Given the description of an element on the screen output the (x, y) to click on. 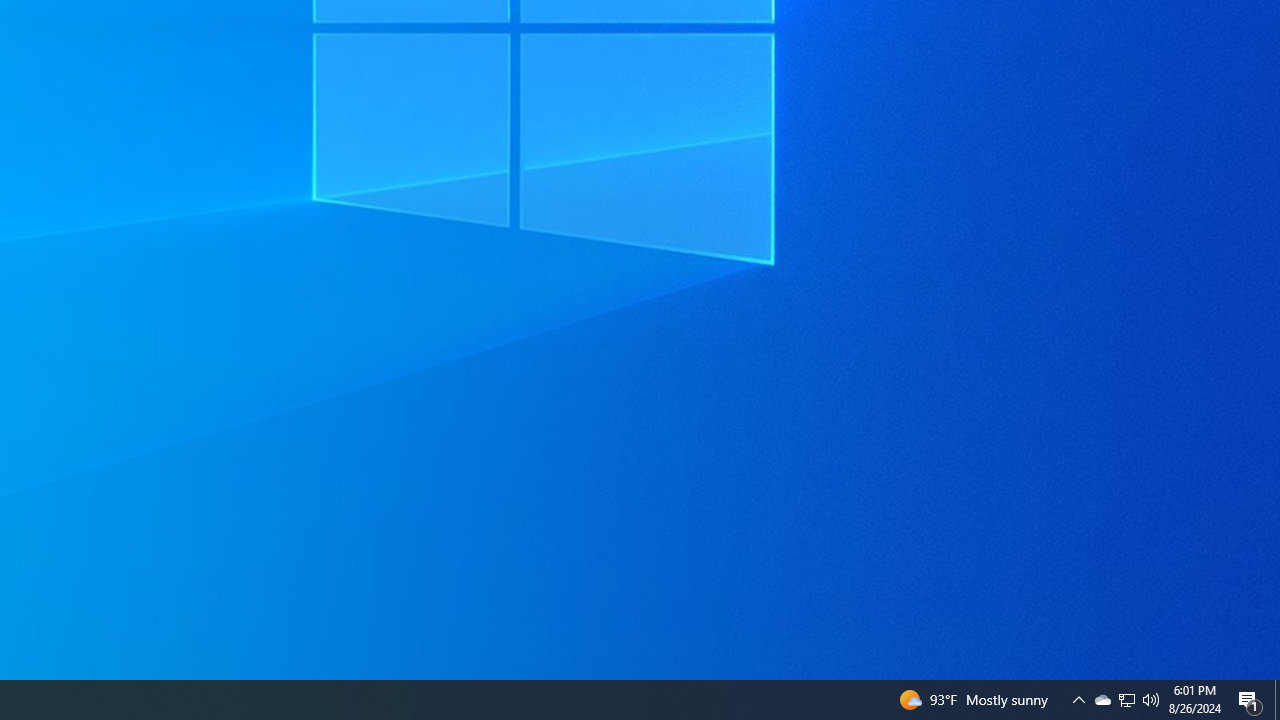
Q2790: 100% (1151, 699)
Show desktop (1102, 699)
Action Center, 1 new notification (1277, 699)
User Promoted Notification Area (1126, 699)
Notification Chevron (1250, 699)
